Given the description of an element on the screen output the (x, y) to click on. 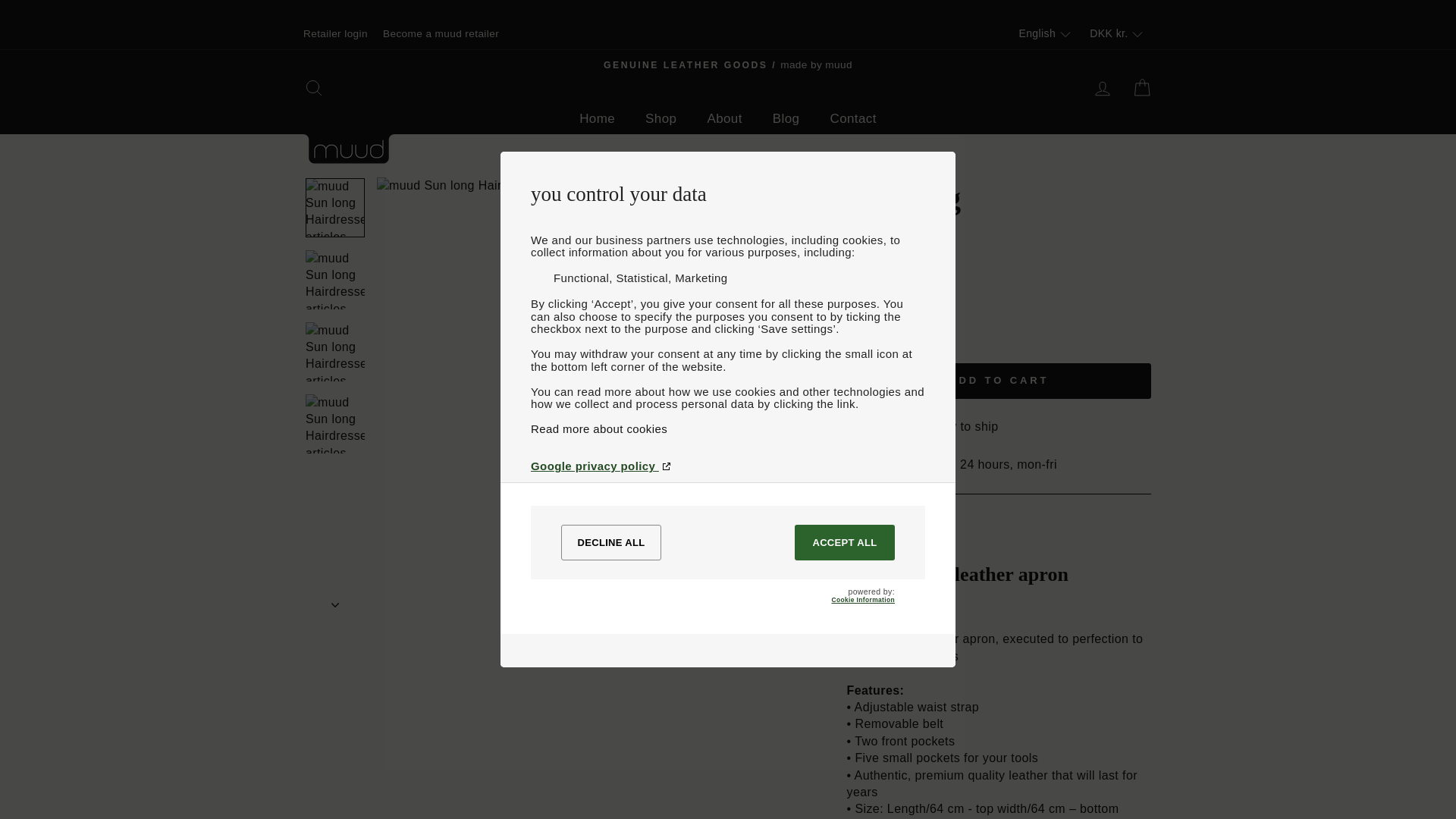
Read more about cookies (727, 428)
Google privacy policy (727, 465)
1 (871, 342)
